Given the description of an element on the screen output the (x, y) to click on. 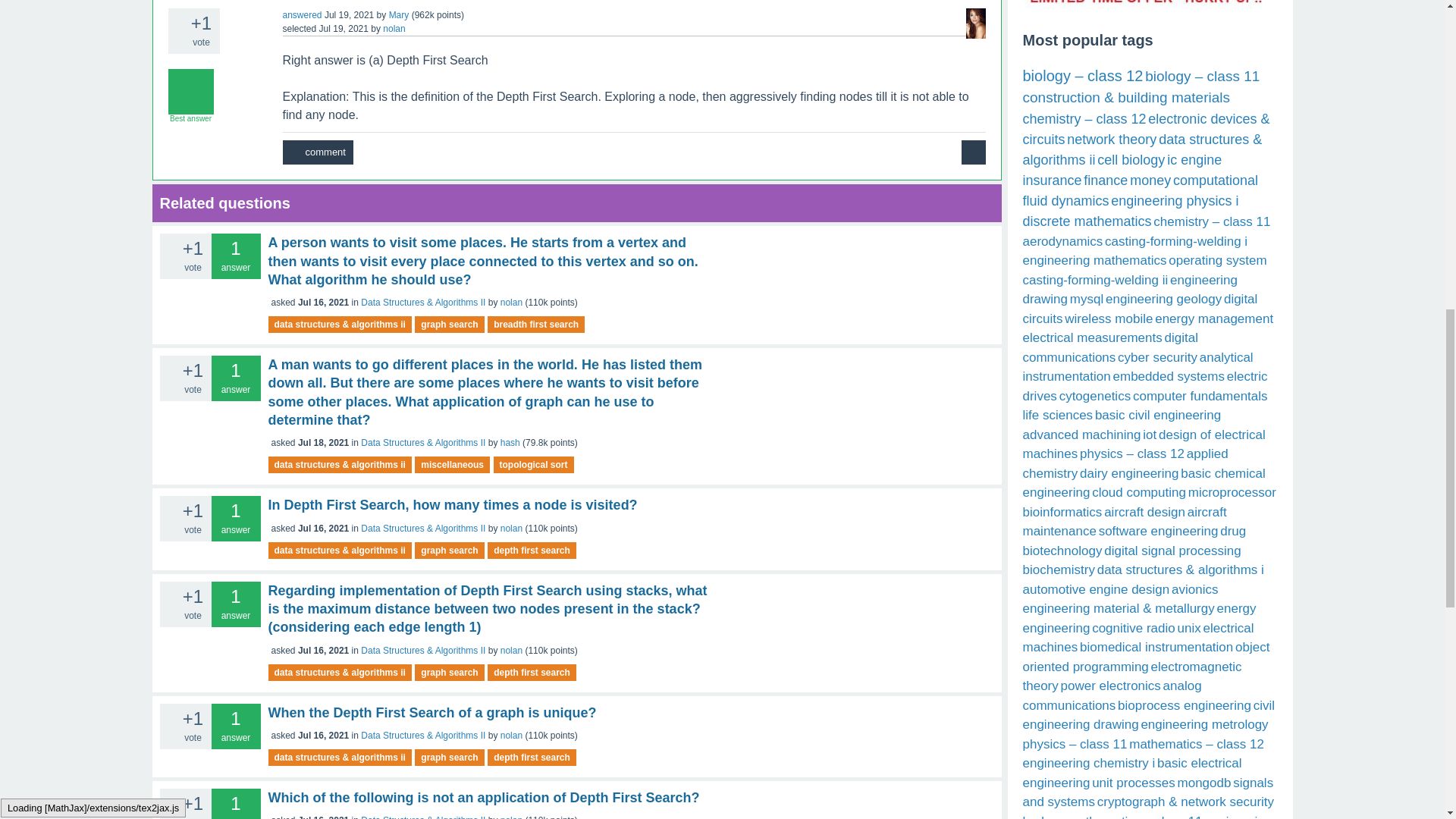
Click to vote up (177, 21)
comment (317, 152)
Mary (398, 14)
ask related question (972, 152)
Add a comment on this answer (317, 152)
Click to vote up (167, 368)
Ask a new question relating to this answer (972, 152)
Click to vote down (177, 40)
nolan (393, 28)
Click to vote up (167, 246)
Click to vote down (167, 266)
answered (301, 14)
